Given the description of an element on the screen output the (x, y) to click on. 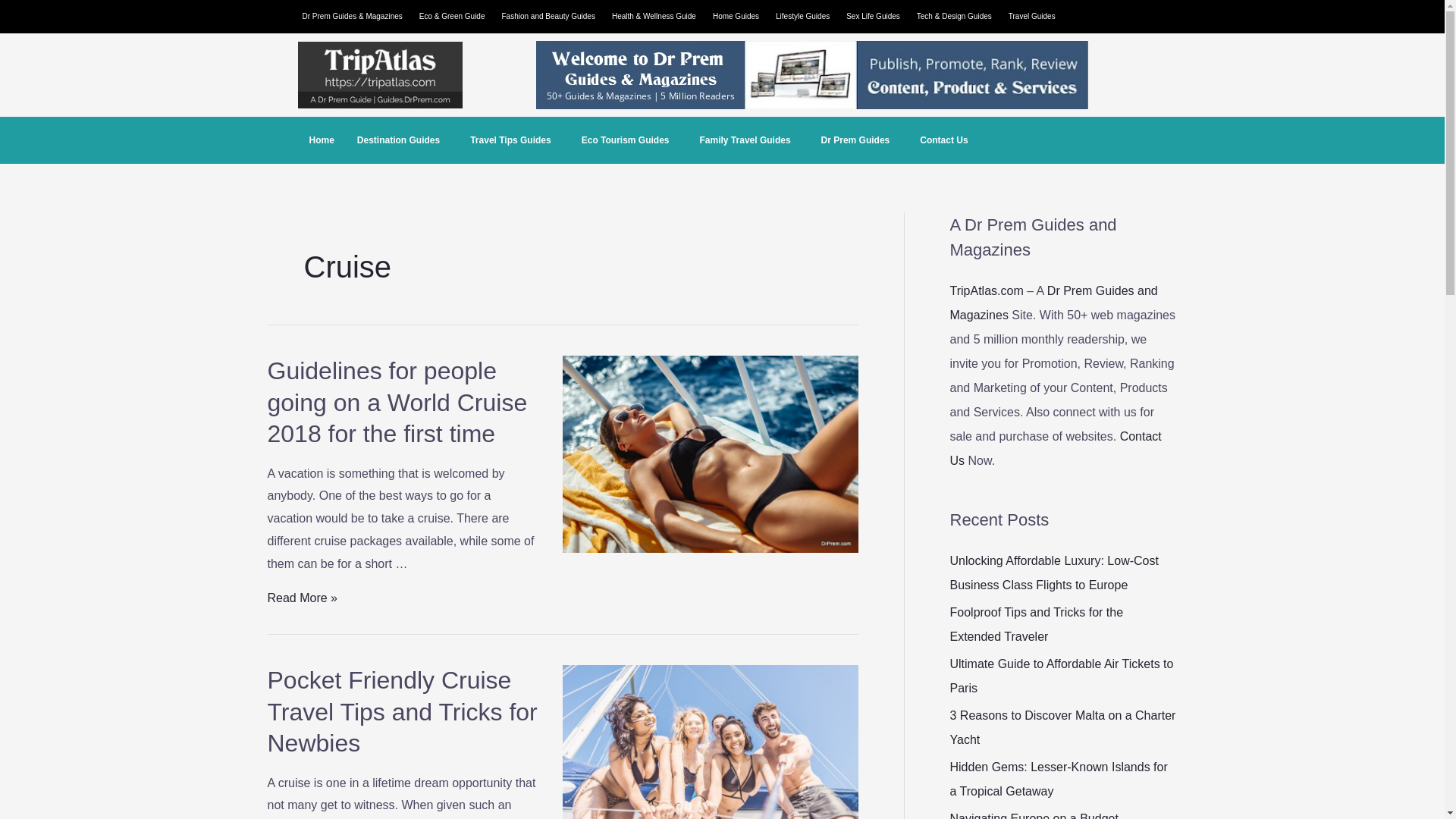
Home Guides (739, 16)
Lifestyle Guides (806, 16)
Fashion and Beauty Guides (552, 16)
